Given the description of an element on the screen output the (x, y) to click on. 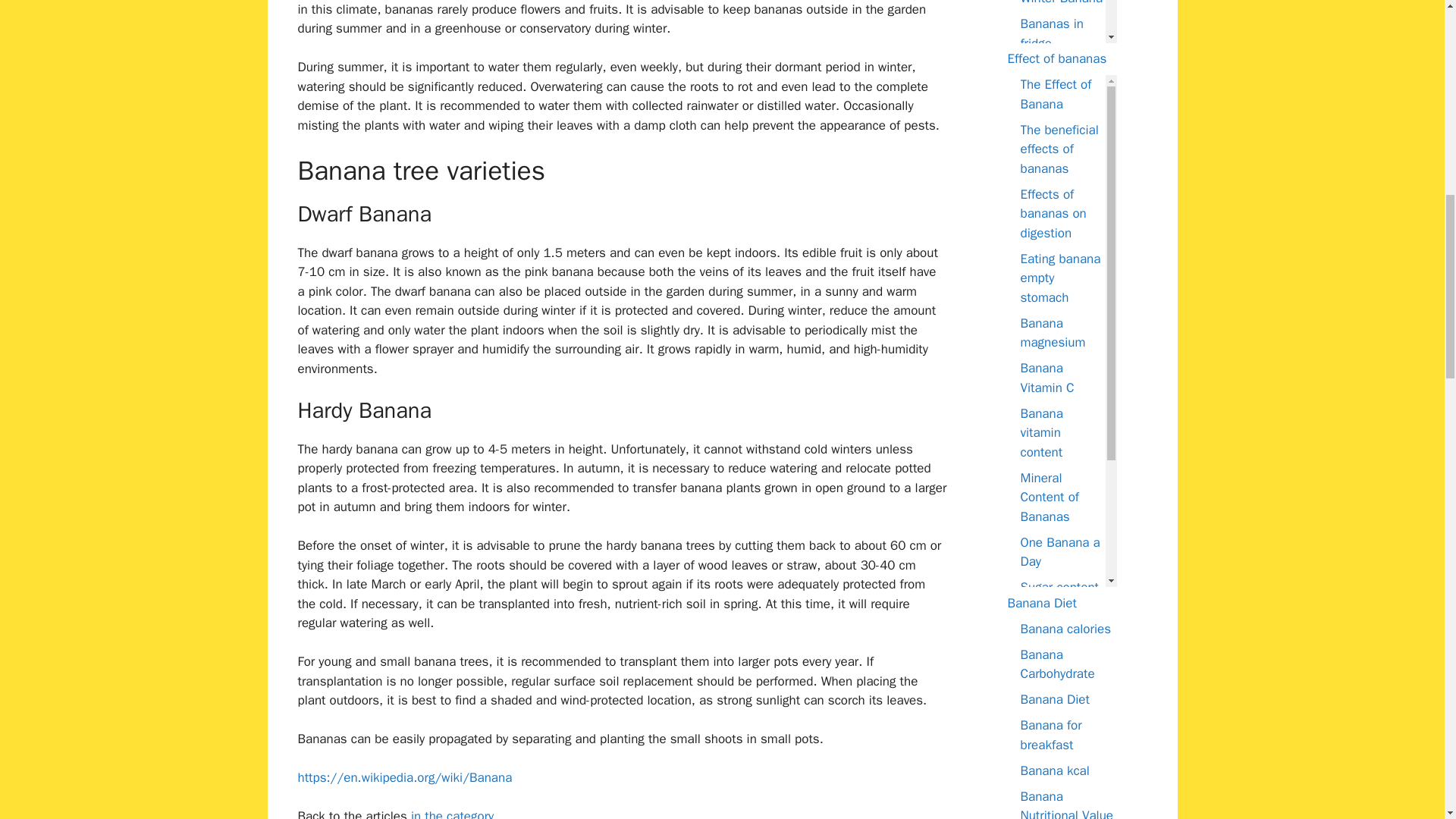
Scroll back to top (1421, 652)
